Given the description of an element on the screen output the (x, y) to click on. 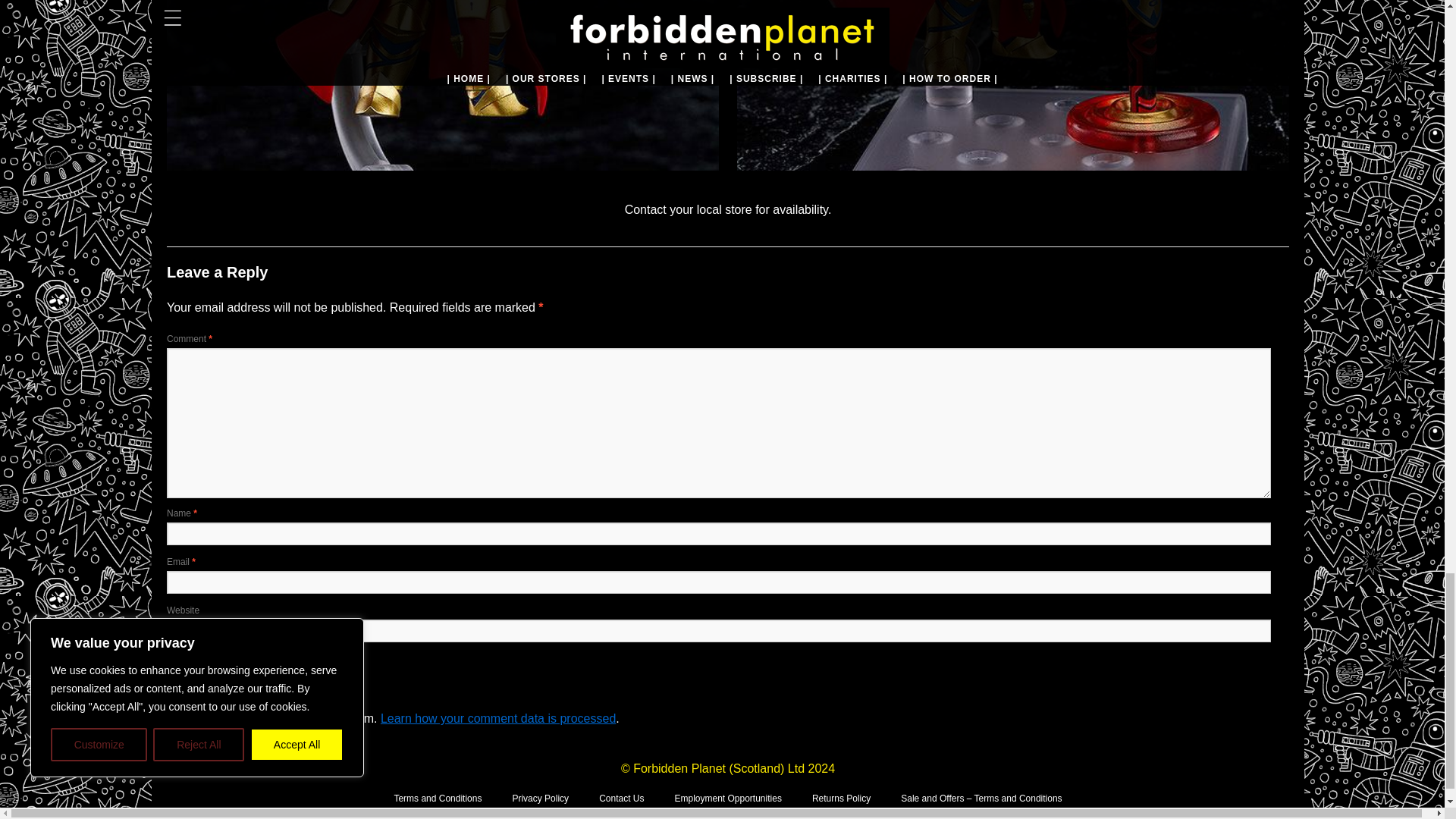
Post Comment (207, 667)
Privacy Policy (540, 798)
Post Comment (207, 667)
Terms and Conditions (437, 798)
Learn how your comment data is processed (497, 717)
